Given the description of an element on the screen output the (x, y) to click on. 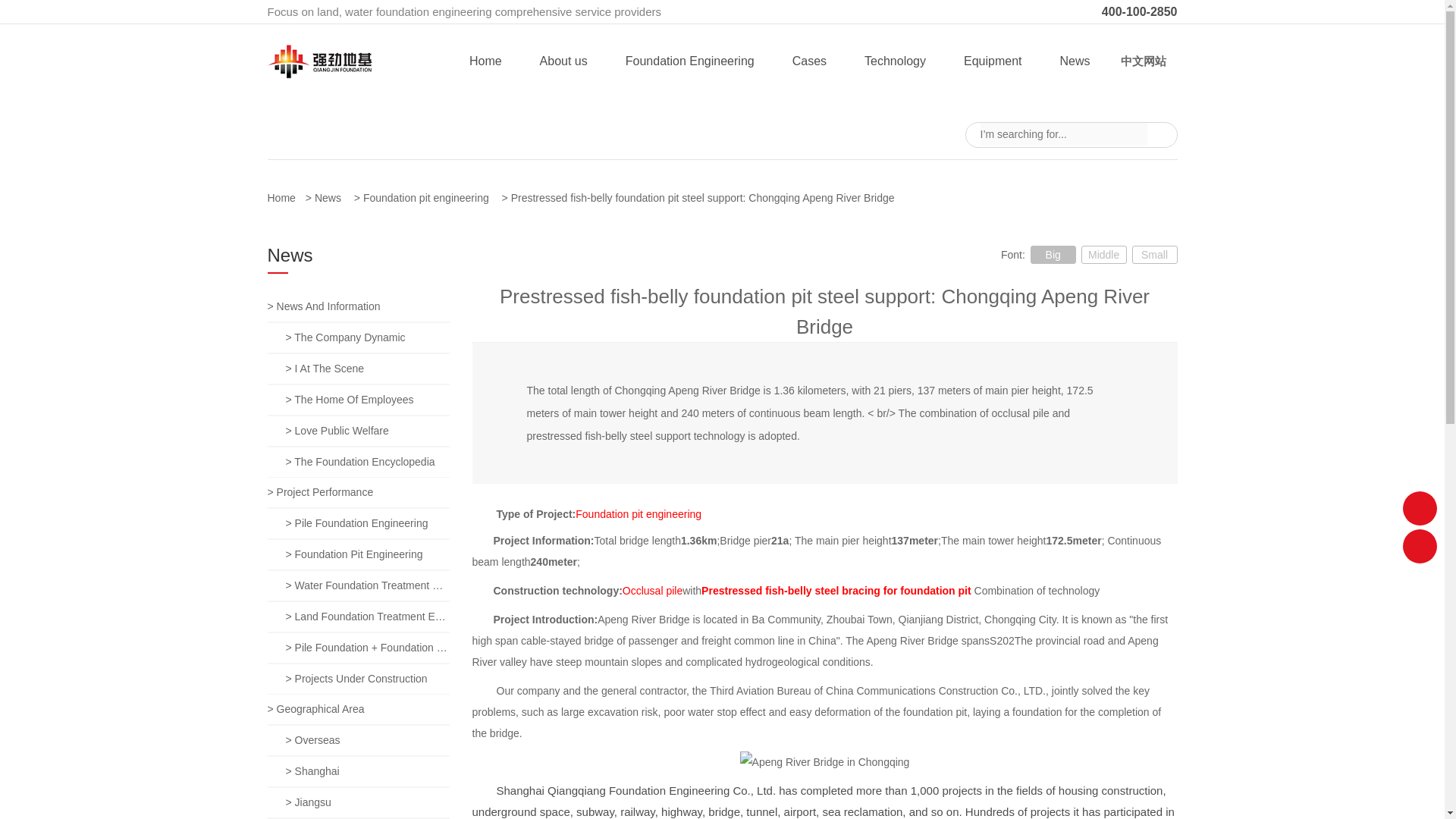
Foundation pit engineering (430, 197)
Cases (809, 61)
News (1074, 61)
Foundation Engineering (690, 61)
Equipment (992, 61)
Quality Engineering     Reputation First (721, 98)
Prestressed fish-belly steel bracing for foundation pit (836, 590)
Technology (895, 61)
Foundation pit engineering (430, 197)
Technology (895, 61)
Home (485, 61)
News (332, 197)
Cases (809, 61)
About us (564, 61)
Equipment (992, 61)
